Given the description of an element on the screen output the (x, y) to click on. 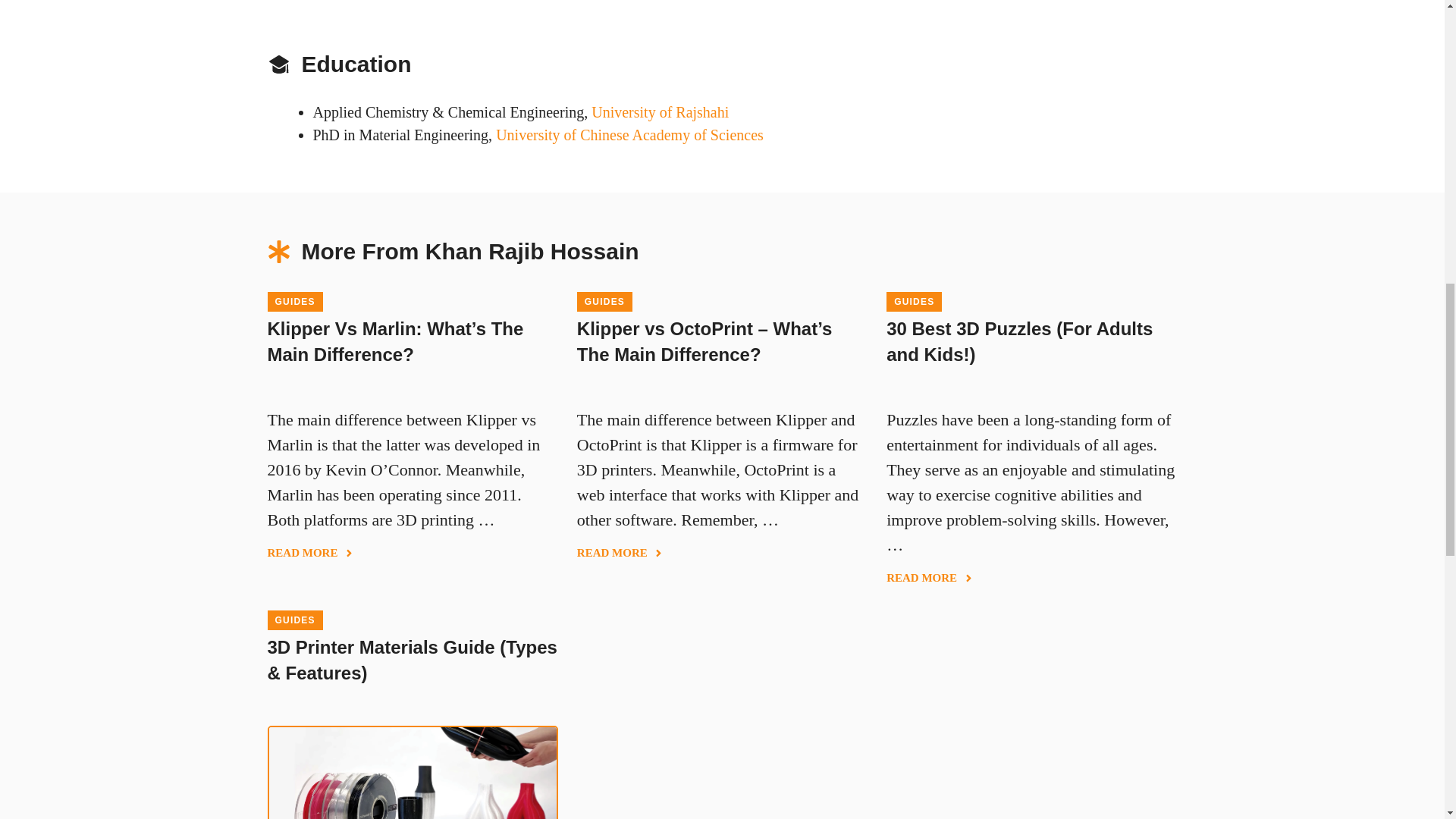
University of Rajshahi (660, 112)
University of Chinese Academy of Sciences (629, 134)
READ MORE (309, 552)
GUIDES (914, 301)
University of Rajshahi (660, 112)
READ MORE (619, 552)
University of Chinese Academy of Sciences (629, 134)
GUIDES (293, 619)
GUIDES (603, 301)
READ MORE (930, 578)
